Given the description of an element on the screen output the (x, y) to click on. 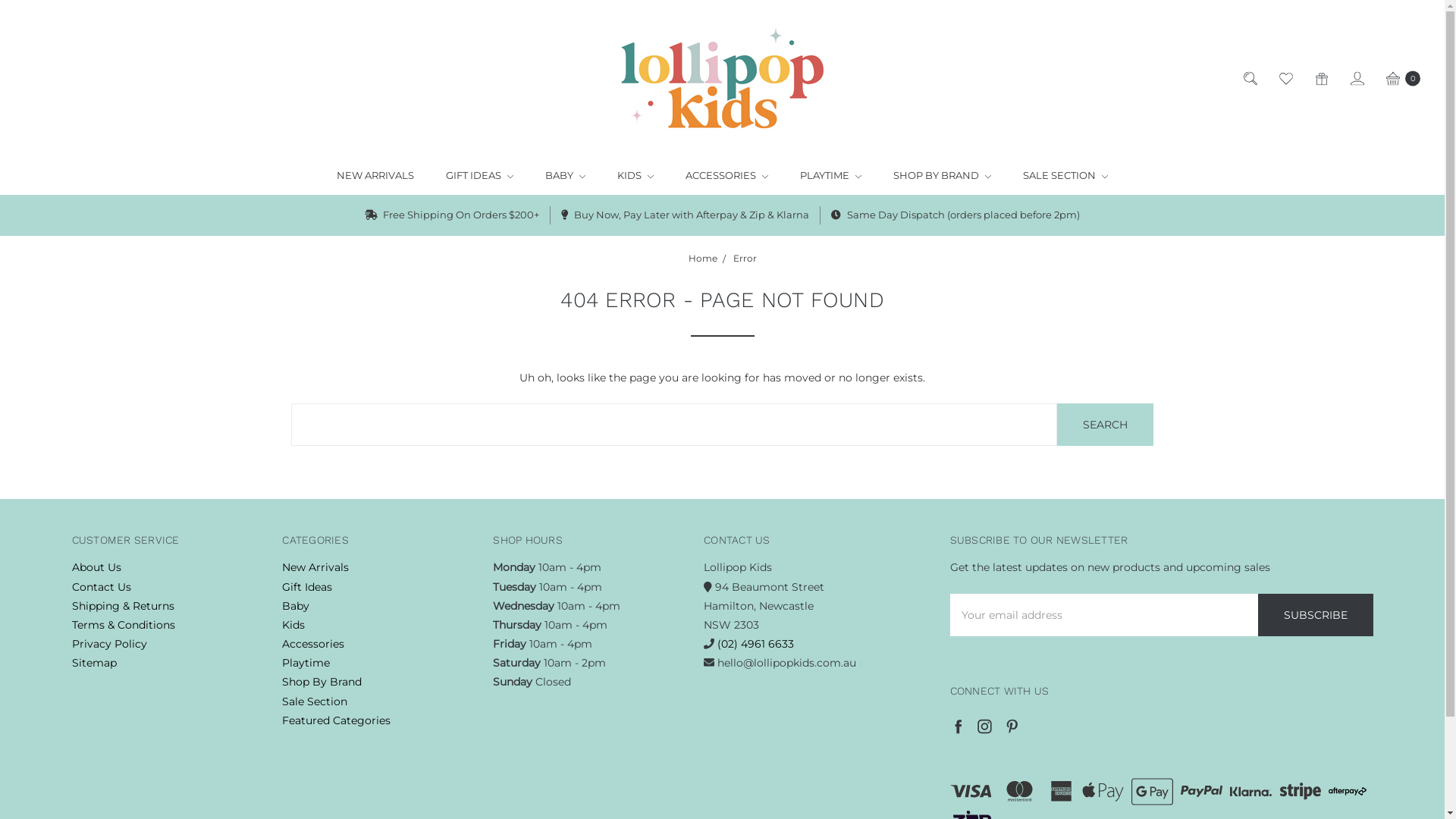
Playtime Element type: text (305, 662)
Gift Ideas Element type: text (307, 586)
Kids Element type: text (293, 624)
BABY Element type: text (565, 175)
Shop By Brand Element type: text (321, 681)
(02) 4961 6633 Element type: text (755, 643)
ACCESSORIES Element type: text (726, 175)
GIFT IDEAS Element type: text (479, 175)
Accessories Element type: text (313, 643)
SHOP BY BRAND Element type: text (942, 175)
Privacy Policy Element type: text (108, 643)
LOLLIPOP KIDS Element type: hover (721, 77)
0 Element type: text (1401, 77)
Error Element type: text (744, 257)
Search Element type: text (1105, 424)
Sitemap Element type: text (93, 662)
New Arrivals Element type: text (315, 567)
SALE SECTION Element type: text (1065, 175)
Home Element type: text (702, 257)
Contact Us Element type: text (100, 586)
Baby Element type: text (295, 605)
About Us Element type: text (95, 567)
PLAYTIME Element type: text (830, 175)
Subscribe Element type: text (1315, 614)
Sale Section Element type: text (314, 701)
NEW ARRIVALS Element type: text (374, 175)
KIDS Element type: text (635, 175)
Featured Categories Element type: text (336, 720)
Shipping & Returns Element type: text (122, 605)
Terms & Conditions Element type: text (122, 624)
